Given the description of an element on the screen output the (x, y) to click on. 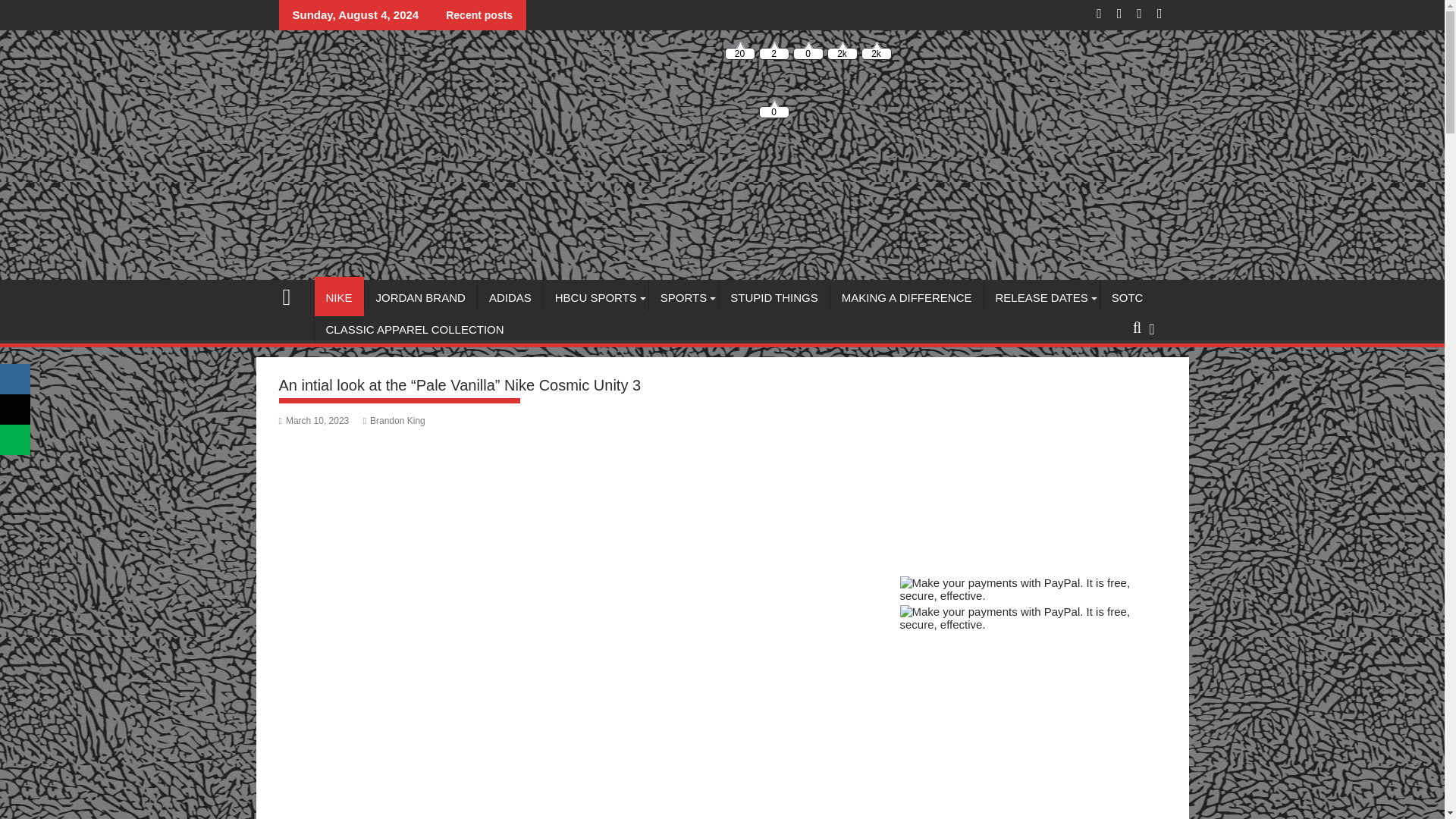
STUPID THINGS (774, 298)
HBCU SPORTS (595, 298)
RELEASE DATES (1041, 298)
MAKING A DIFFERENCE (906, 298)
Sneaker Shop Talk (293, 295)
NIKE (338, 298)
SPORTS (683, 298)
JORDAN BRAND (421, 298)
ADIDAS (510, 298)
